Given the description of an element on the screen output the (x, y) to click on. 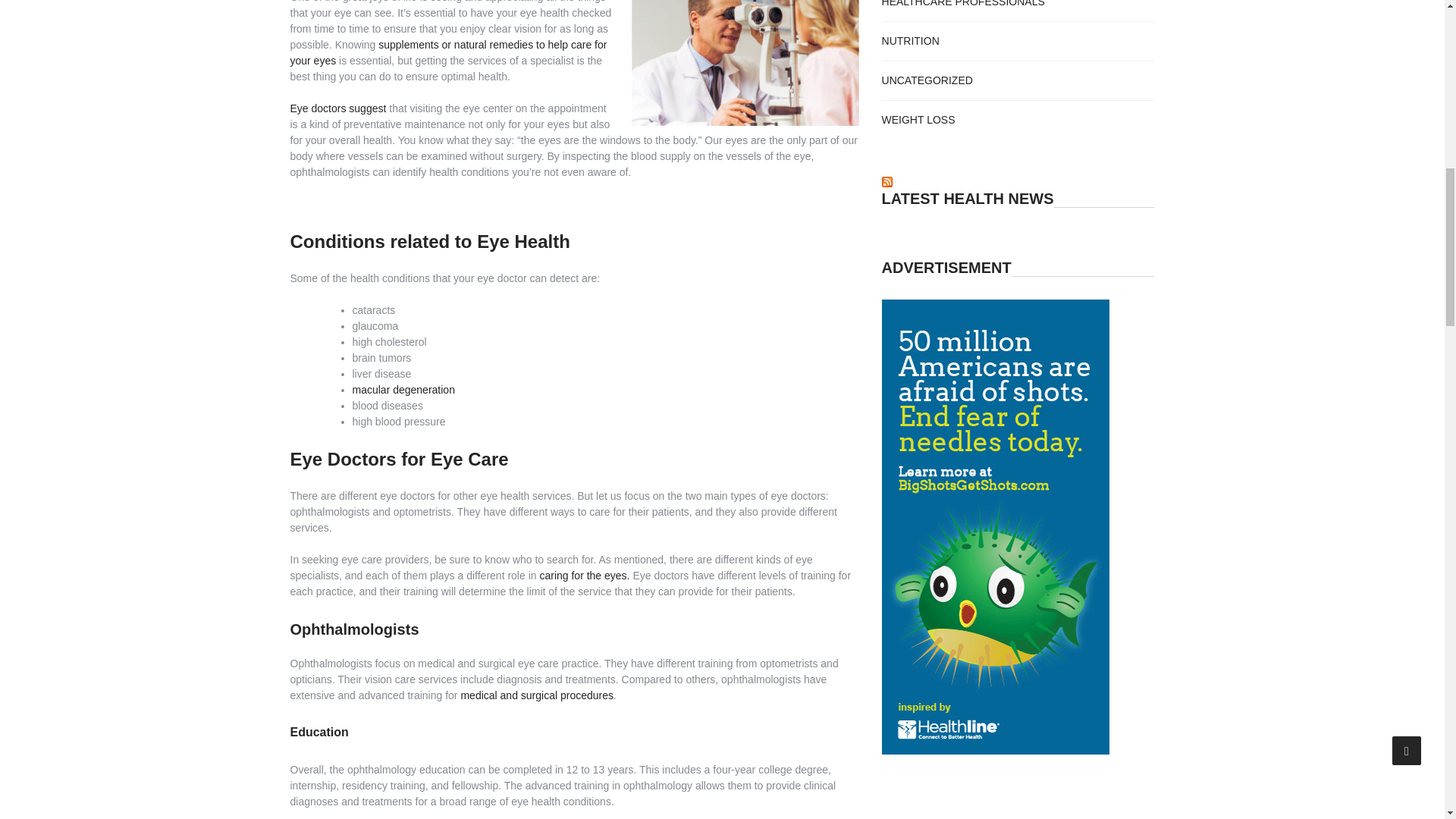
supplements or natural remedies to help care for your eyes (448, 52)
Eye doctors suggest (337, 108)
macular degeneration (403, 389)
medical and surgical procedures (536, 695)
Blogs about nutrition and healthy eating. (910, 40)
caring for the eyes. (583, 575)
Weight Loss blogs (918, 119)
